Given the description of an element on the screen output the (x, y) to click on. 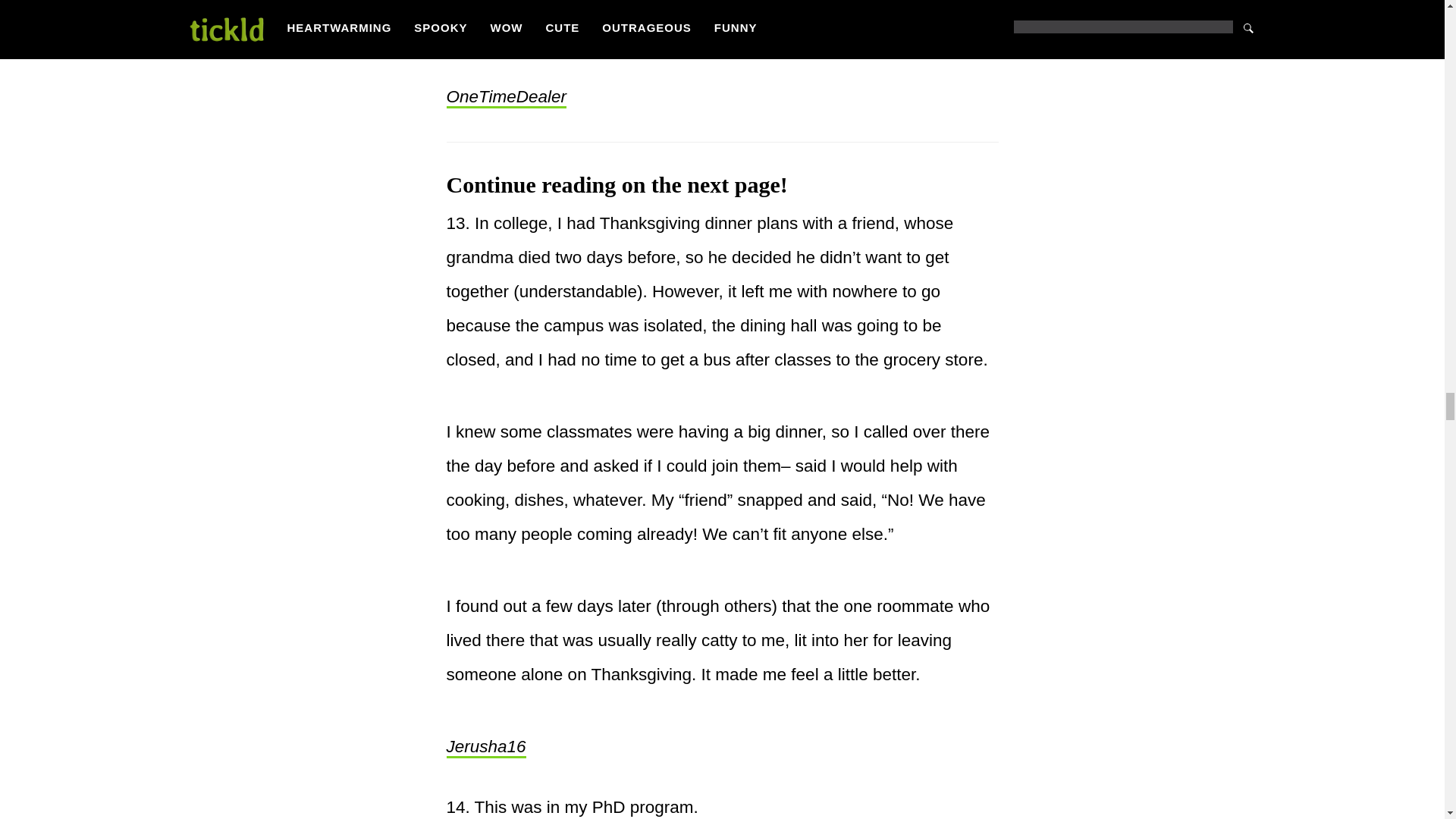
Jerusha16 (485, 747)
OneTimeDealer (505, 97)
